Given the description of an element on the screen output the (x, y) to click on. 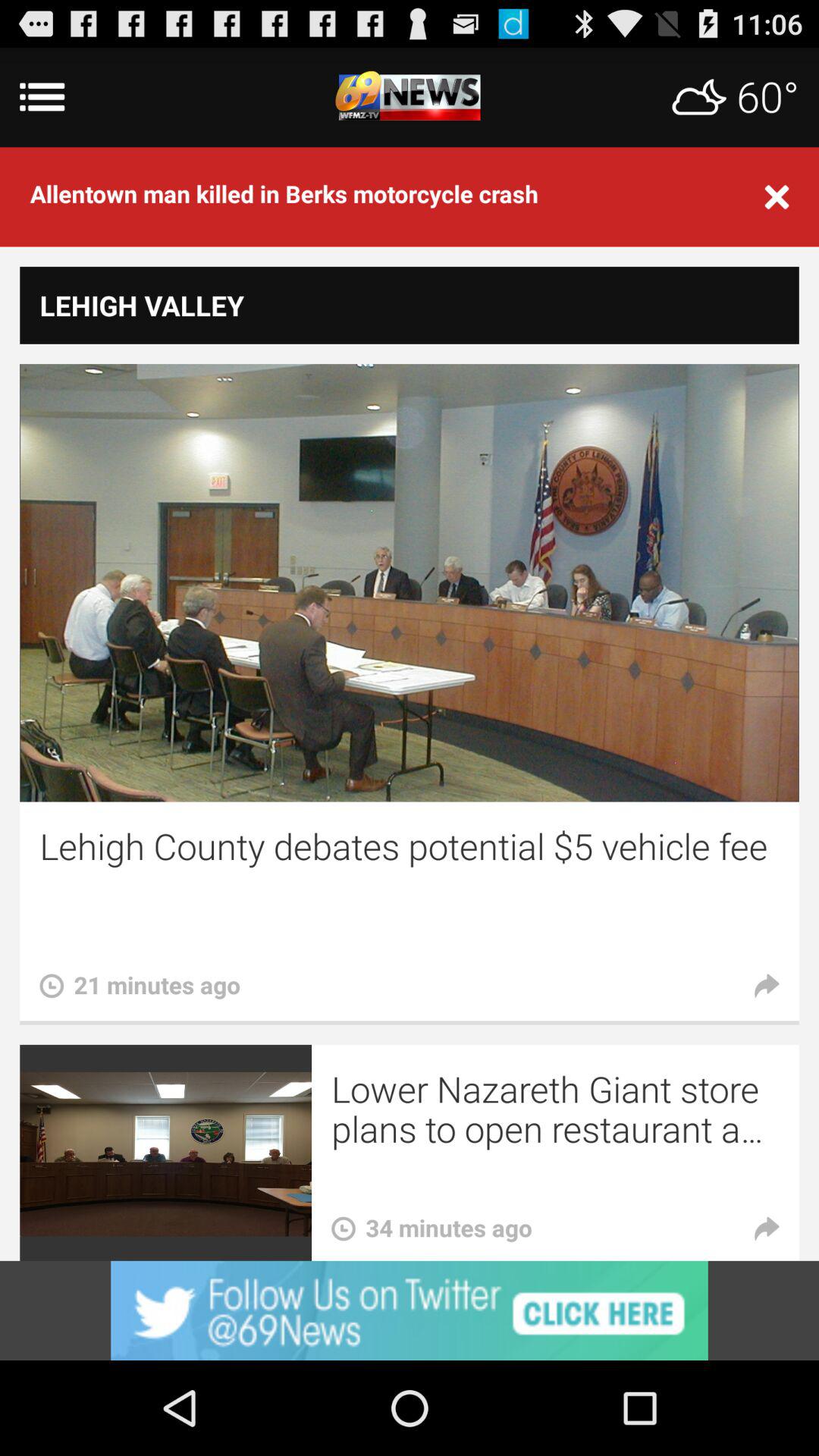
follow site on twitter (409, 1310)
